Given the description of an element on the screen output the (x, y) to click on. 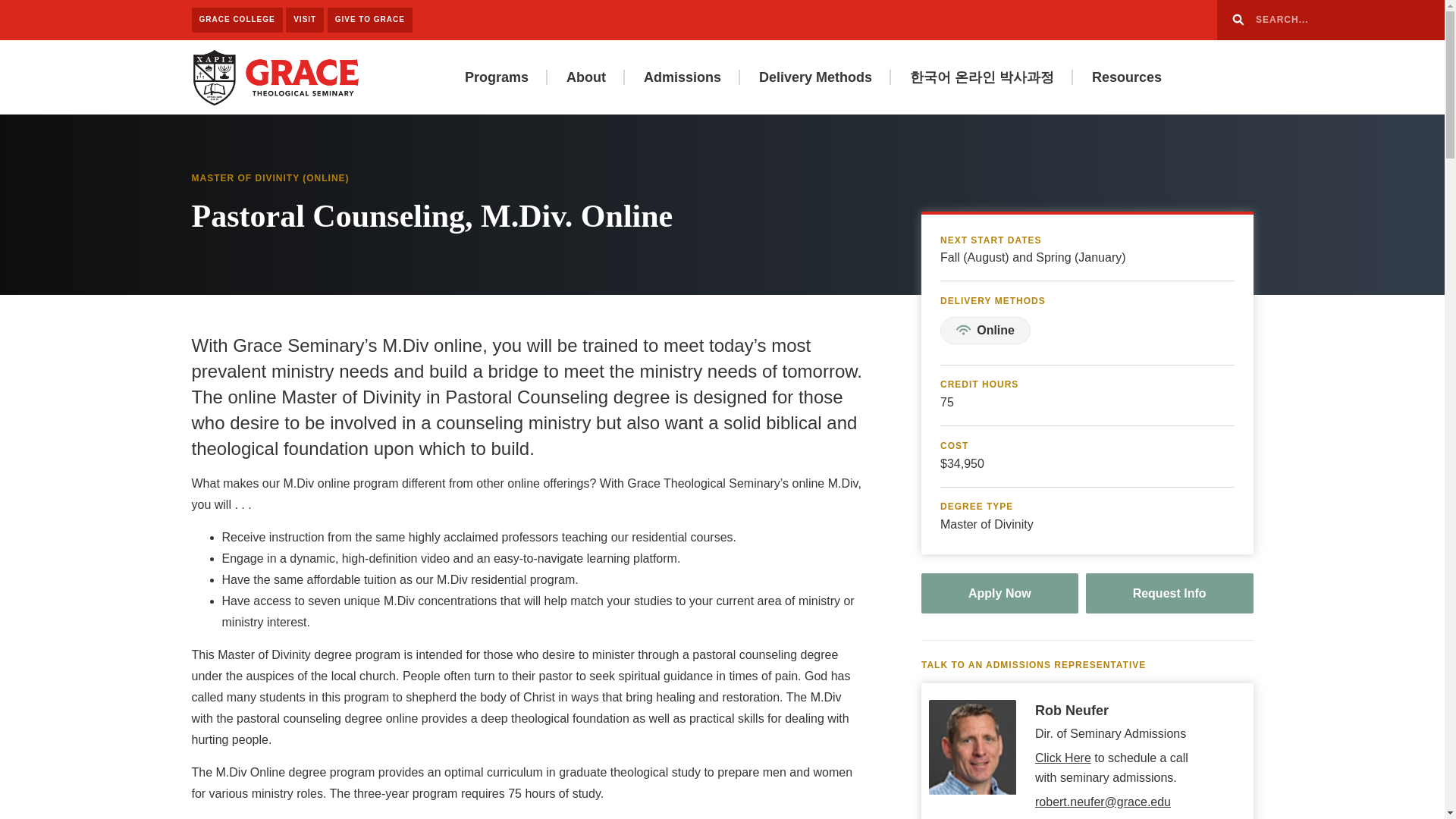
GIVE TO GRACE (369, 19)
Programs (496, 77)
VISIT (304, 19)
Grace Theological Seminary (274, 76)
GRACE COLLEGE (236, 19)
